Given the description of an element on the screen output the (x, y) to click on. 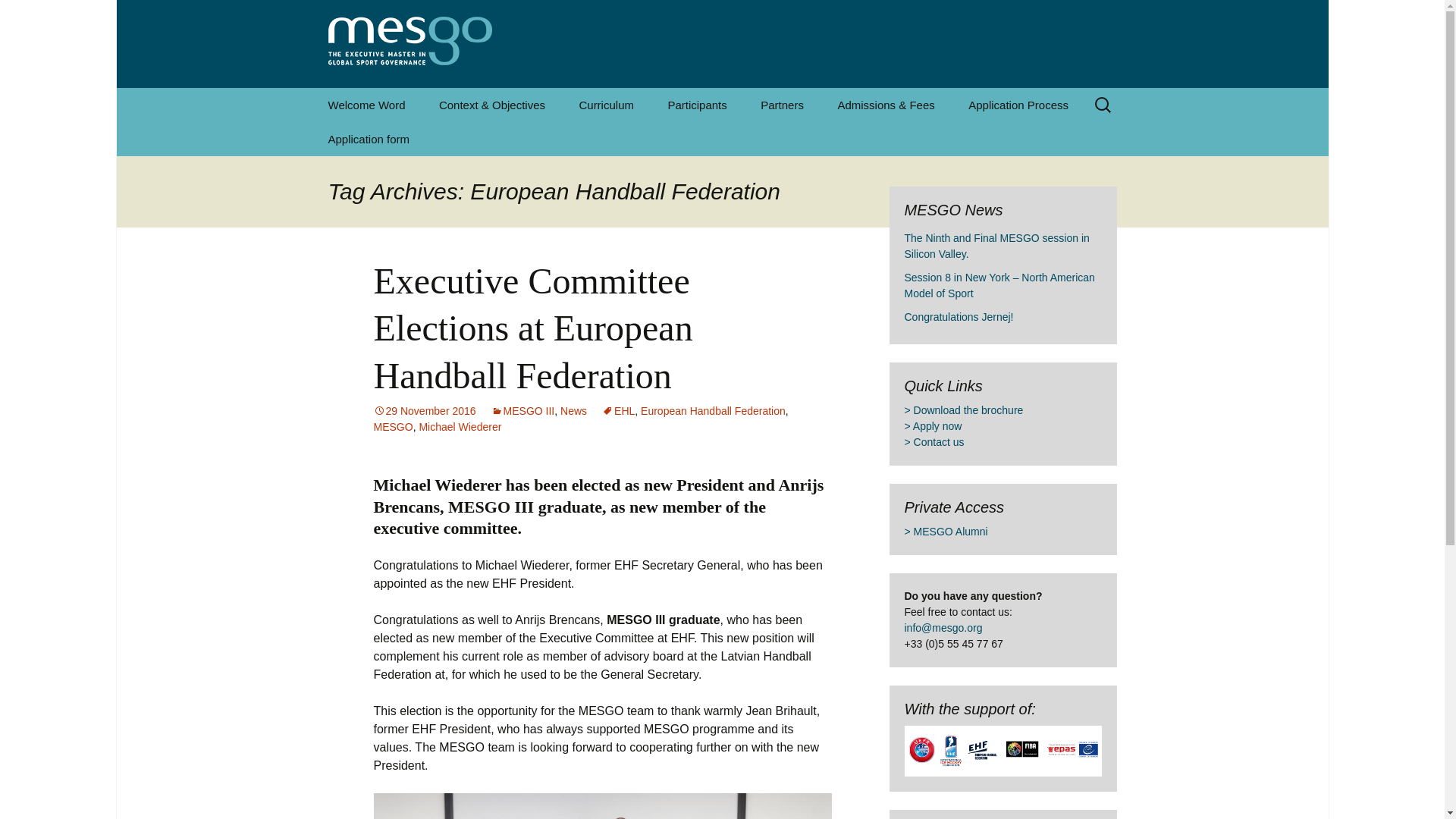
MESGO (392, 426)
Search (18, 15)
News (573, 410)
Partners (781, 104)
Application Process (1018, 104)
Participants MESGO VII (727, 144)
MESGO III (523, 410)
MESGO (722, 43)
Application form (369, 139)
Michael Wiederer (459, 426)
Curriculum (606, 104)
EHL (618, 410)
